Given the description of an element on the screen output the (x, y) to click on. 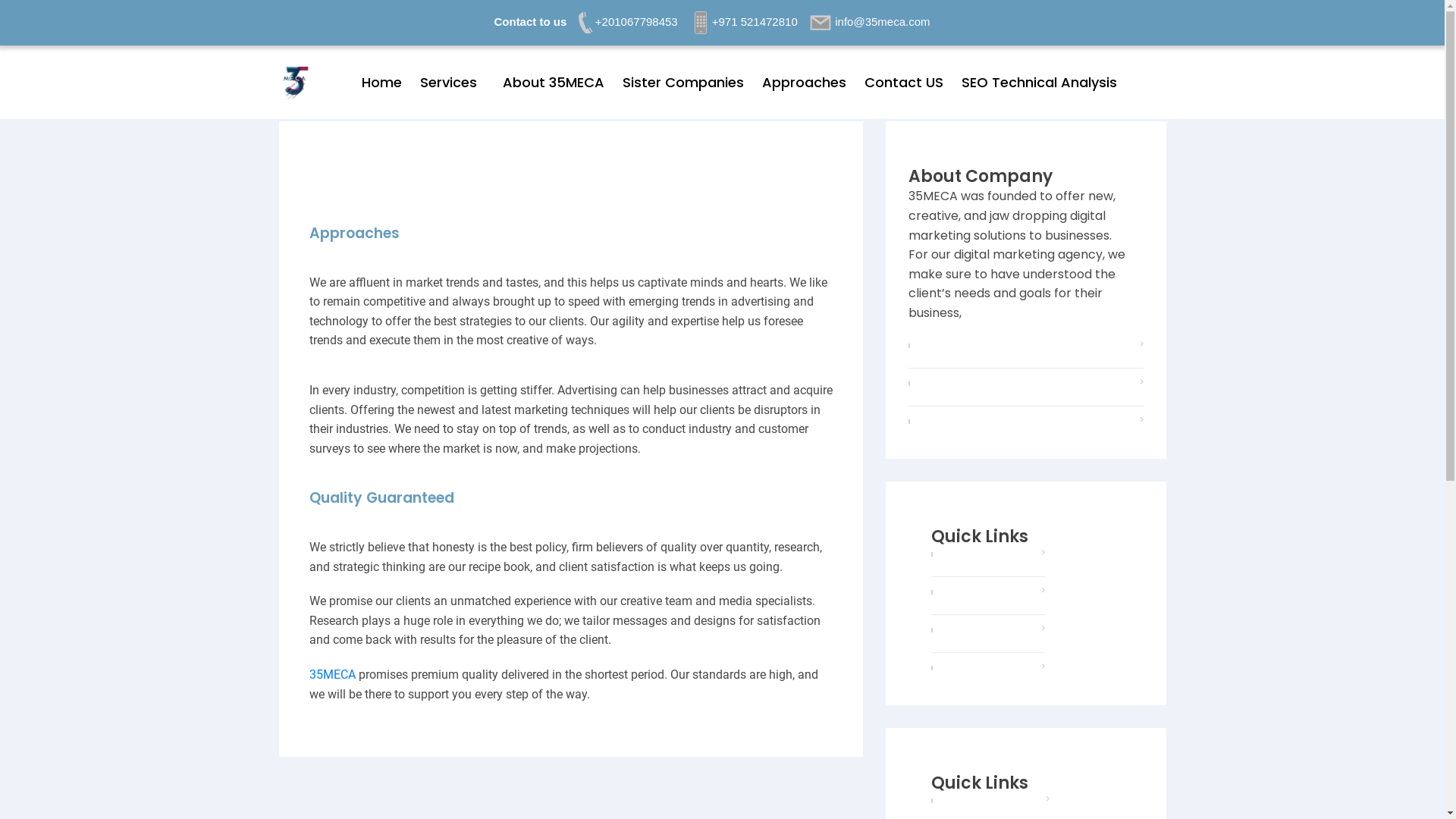
About 35MECA Element type: text (553, 82)
Services Element type: text (448, 82)
+201067798453 Element type: text (624, 21)
+971 521472810 Element type: text (743, 21)
35MECA Element type: hover (296, 82)
Home Element type: text (381, 82)
35MECA Element type: text (332, 674)
Social Media Element type: text (971, 592)
SEO Technical Analysis Element type: text (1039, 82)
Digital Marketing Strategy Element type: text (680, 161)
Approaches Element type: text (804, 82)
Search Marketing Element type: text (985, 630)
Contact US Element type: text (903, 82)
Services Element type: text (959, 554)
info@35meca.com Element type: text (871, 21)
Sister Companies Element type: text (682, 82)
Web Development Element type: text (987, 668)
Online Marketing Services Element type: text (505, 152)
Social Media Marketing Element type: text (680, 152)
About US Element type: text (962, 801)
